Given the description of an element on the screen output the (x, y) to click on. 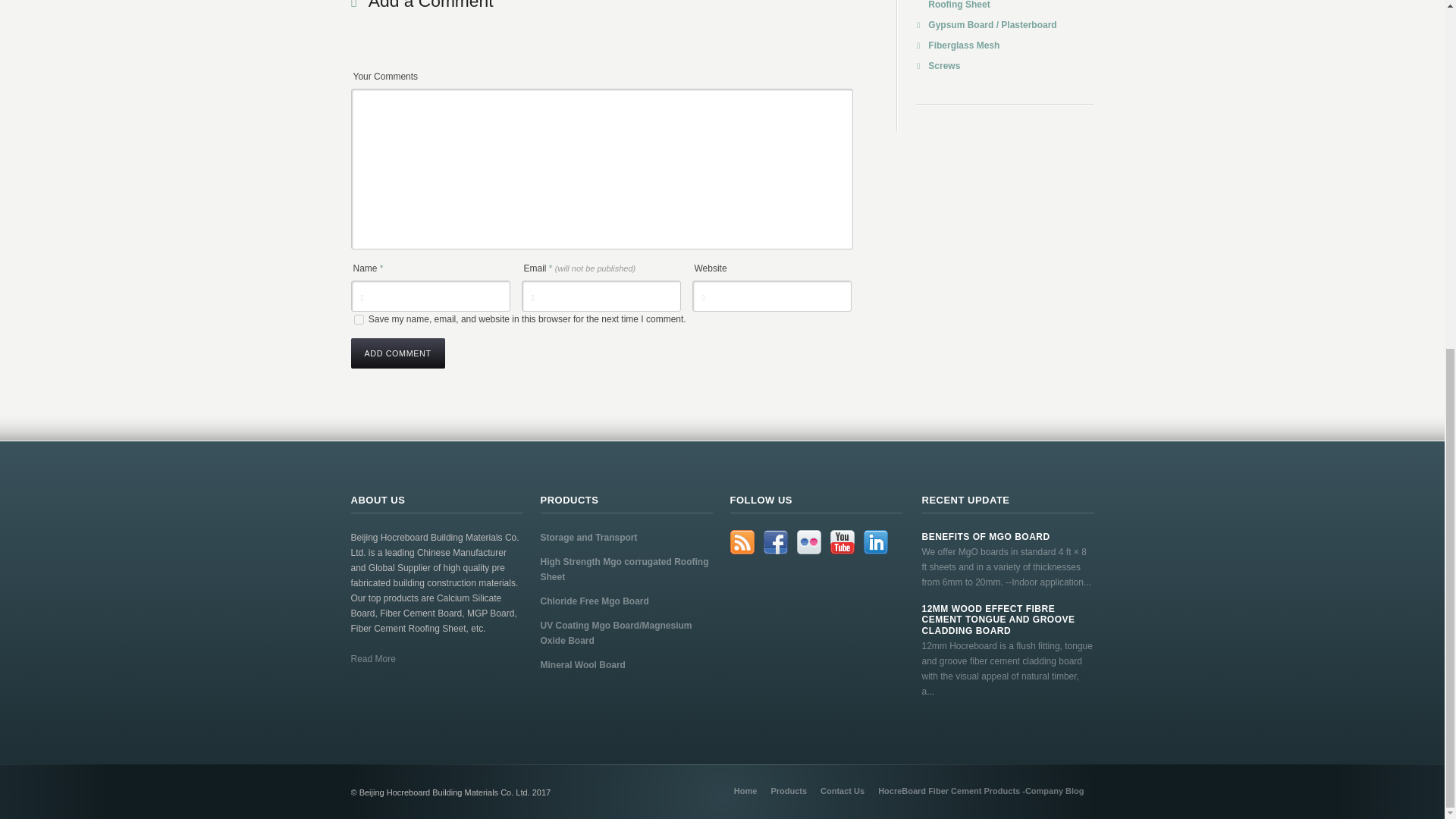
Add Comment (397, 353)
yes (357, 319)
YouTube (841, 541)
Facebook (774, 541)
Add Comment (397, 353)
LinkedIn (874, 541)
Flickr (808, 541)
RSS Feed (741, 541)
